Given the description of an element on the screen output the (x, y) to click on. 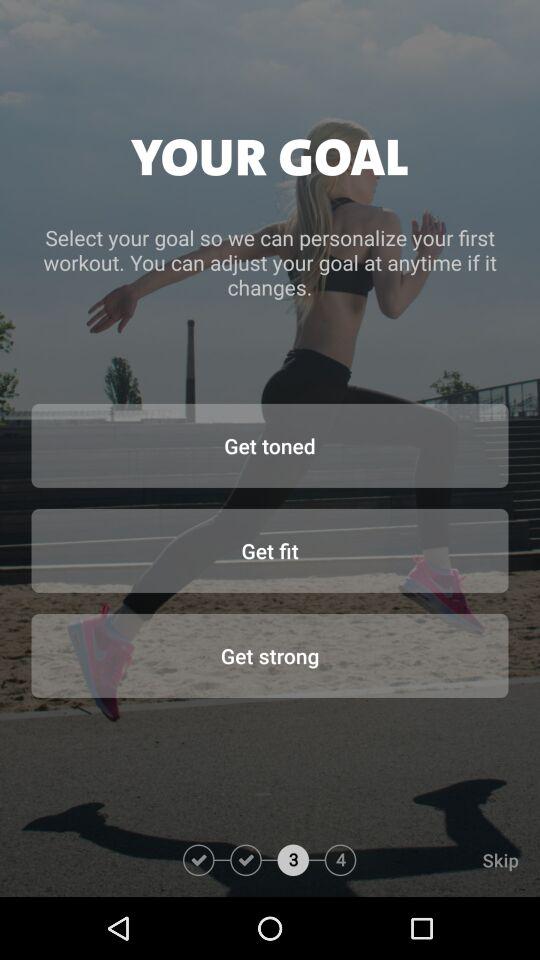
launch icon above the skip (269, 655)
